Given the description of an element on the screen output the (x, y) to click on. 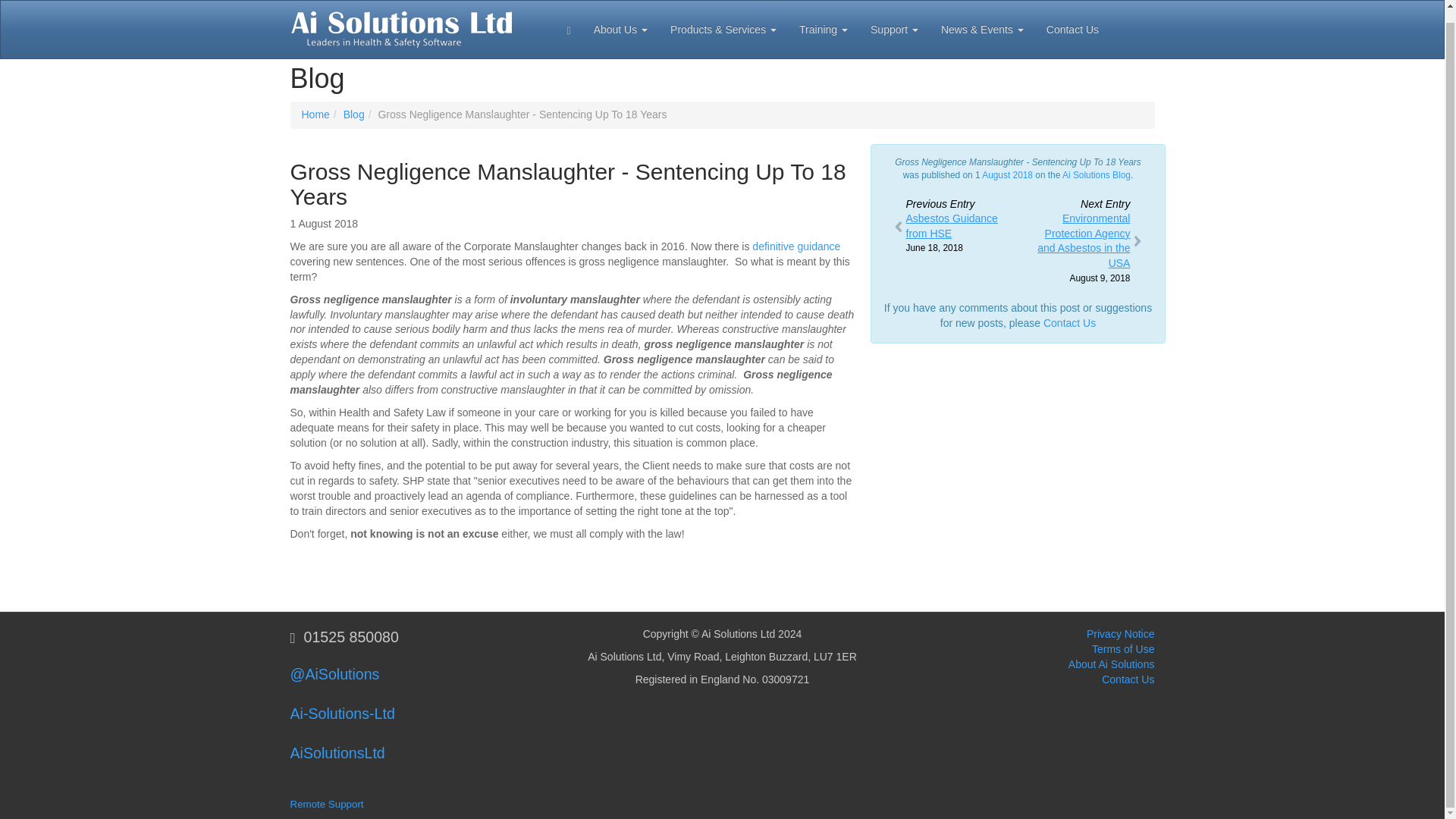
Home (315, 114)
Ai Solutions Blog (1096, 174)
Privacy Notice (1120, 633)
Ai-Solutions-Ltd (949, 226)
About Us (341, 713)
Contact Us (620, 22)
definitive guidance (1069, 322)
AiSolutionsLtd (796, 246)
